Given the description of an element on the screen output the (x, y) to click on. 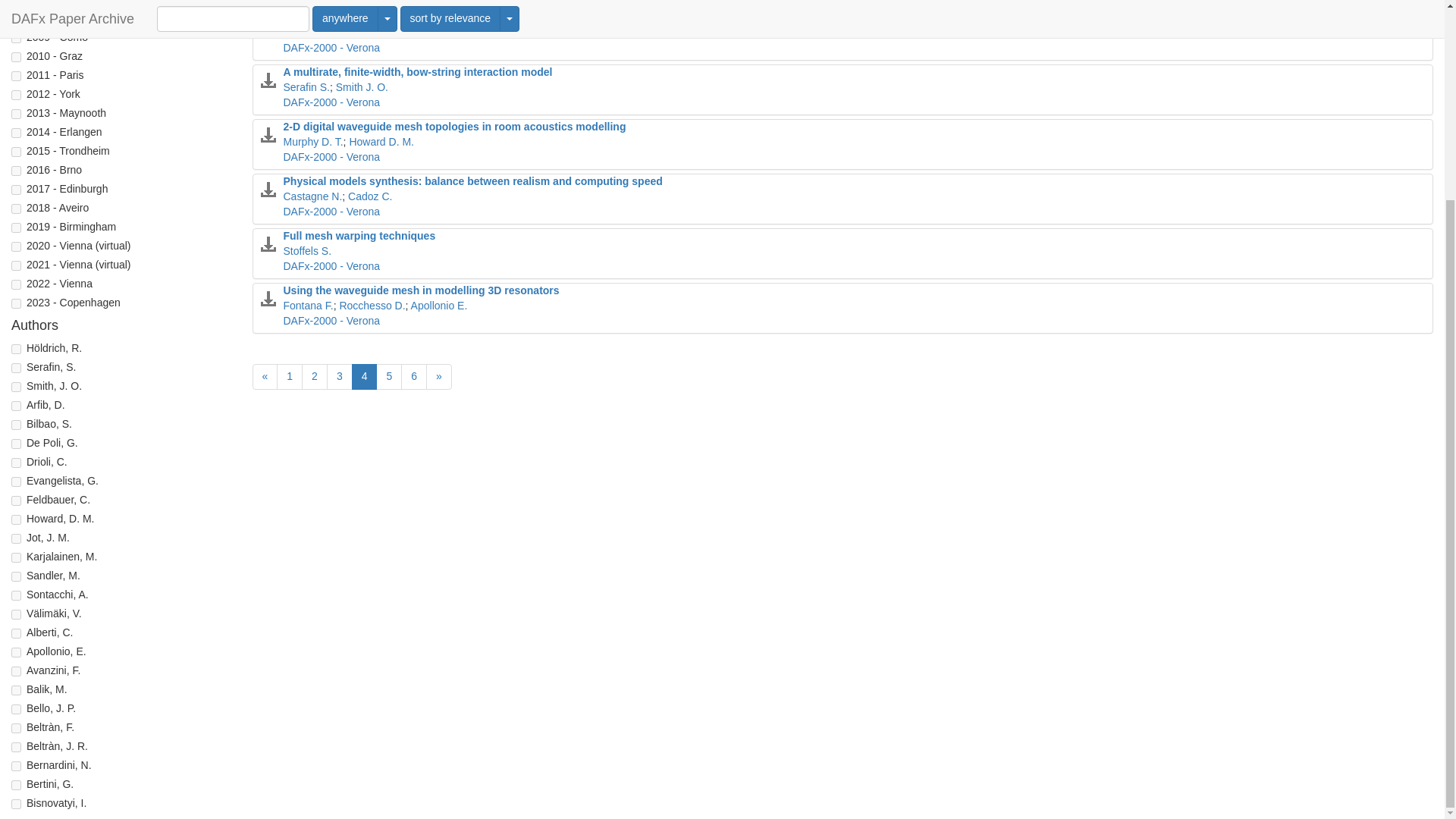
Savioja L. (363, 32)
2012 (16, 94)
2014 (16, 132)
2011 (16, 76)
2009 (16, 38)
2015 (16, 152)
2010 (16, 57)
2008 (16, 19)
2007 (16, 2)
2016 (16, 171)
DAFx-2000 - Verona (331, 47)
2013 (16, 113)
Download (268, 25)
